Given the description of an element on the screen output the (x, y) to click on. 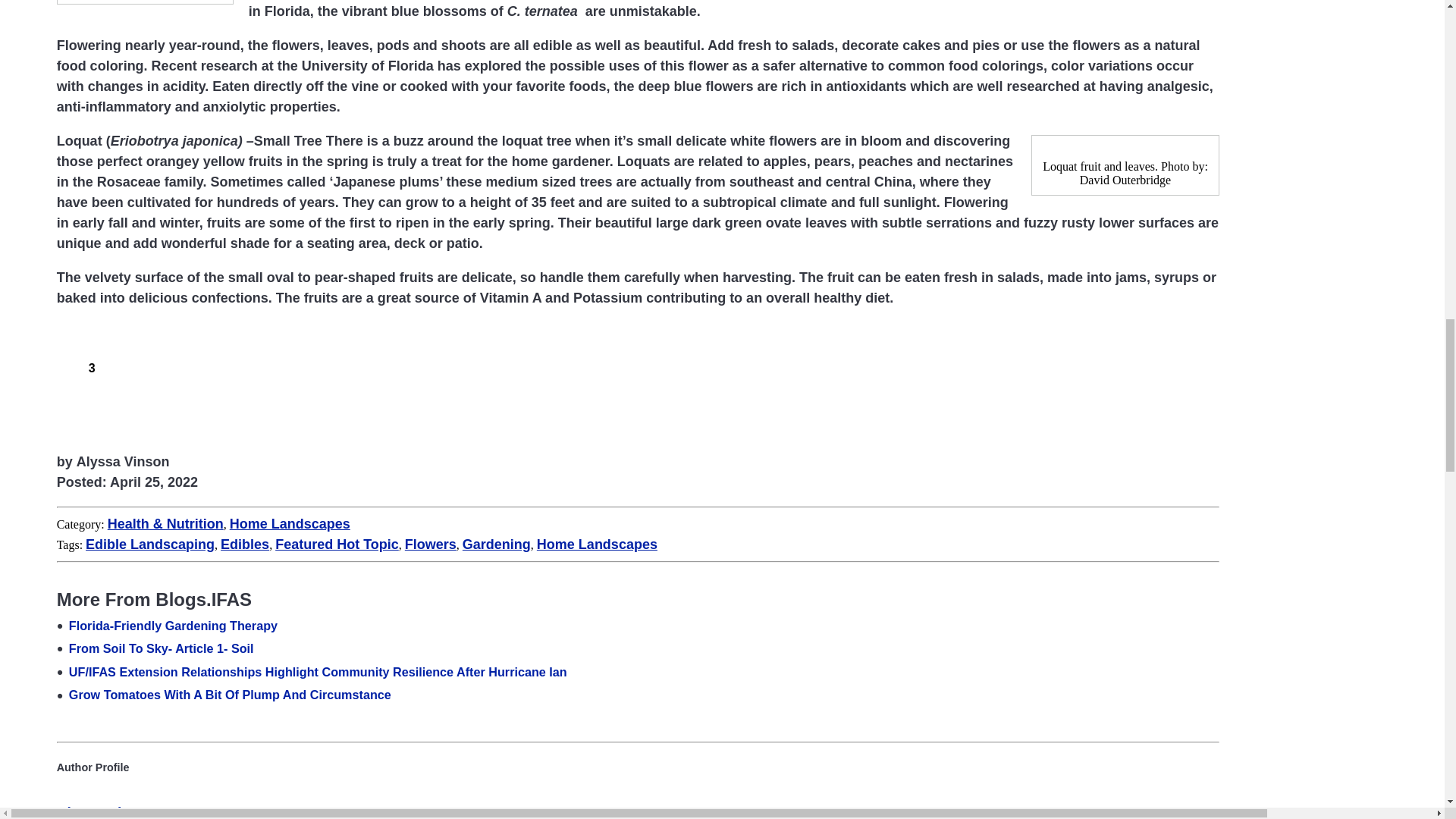
I found this post helpful (65, 365)
